Given the description of an element on the screen output the (x, y) to click on. 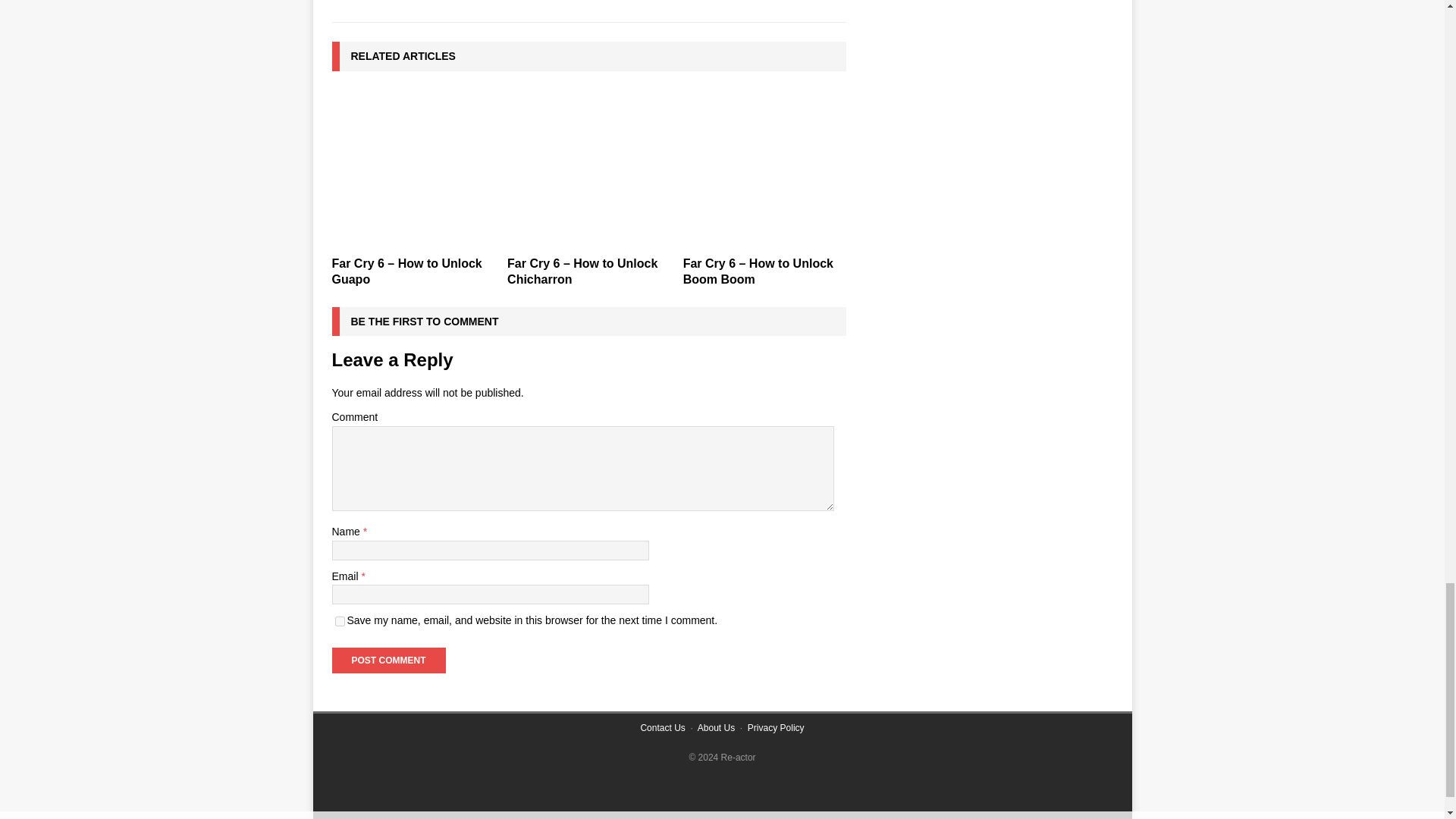
Post Comment (388, 660)
yes (339, 621)
